Given the description of an element on the screen output the (x, y) to click on. 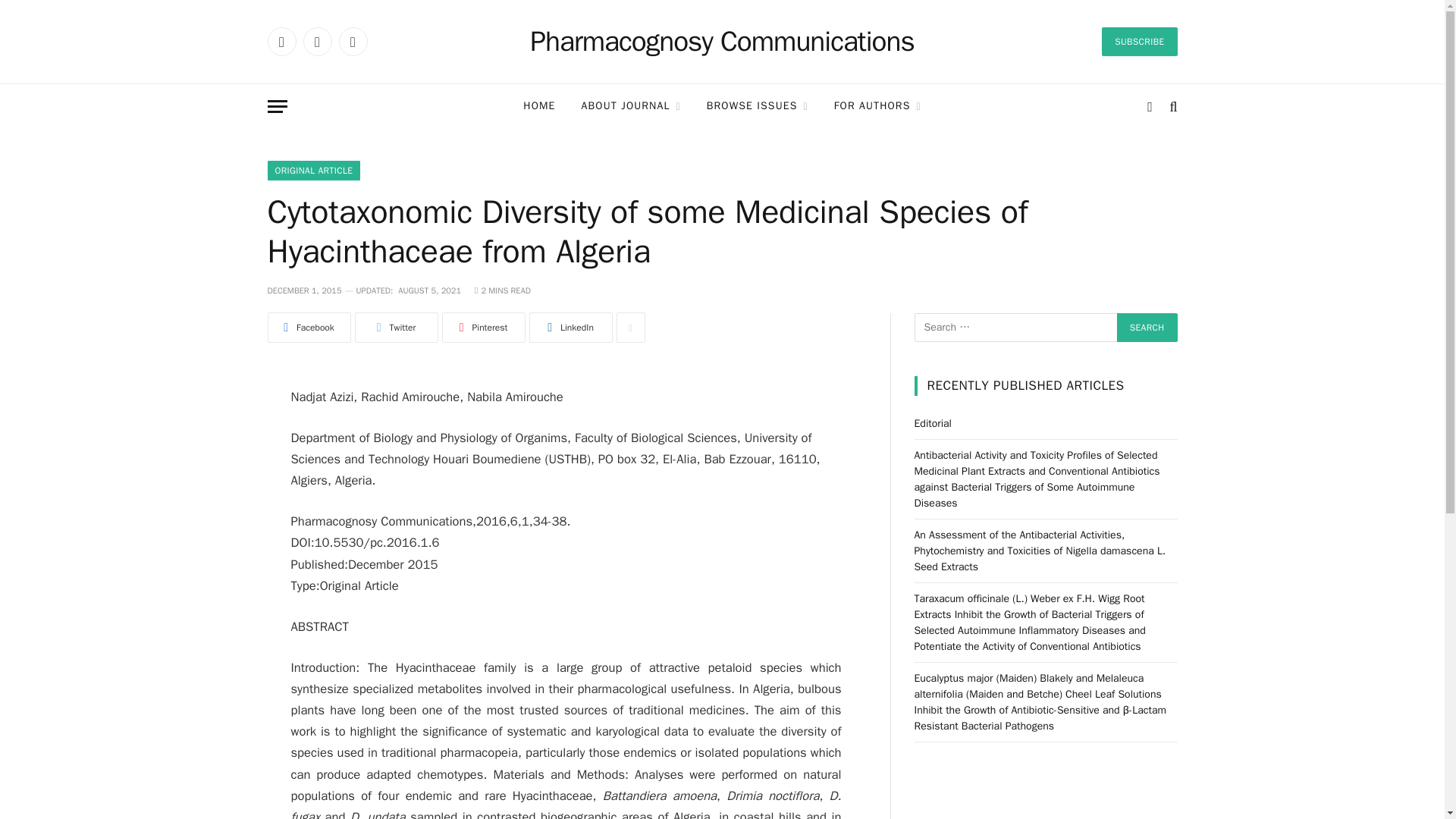
SUBSCRIBE (1139, 41)
FOR AUTHORS (877, 106)
Twitter (396, 327)
Facebook (308, 327)
BROWSE ISSUES (757, 106)
Pinterest (482, 327)
HOME (539, 106)
Share on Pinterest (482, 327)
Twitter (316, 41)
Show More Social Sharing (630, 327)
Search (1171, 106)
Share on Twitter (396, 327)
Switch to Dark Design - easier on eyes. (1149, 106)
Share on Facebook (308, 327)
Facebook (280, 41)
